Given the description of an element on the screen output the (x, y) to click on. 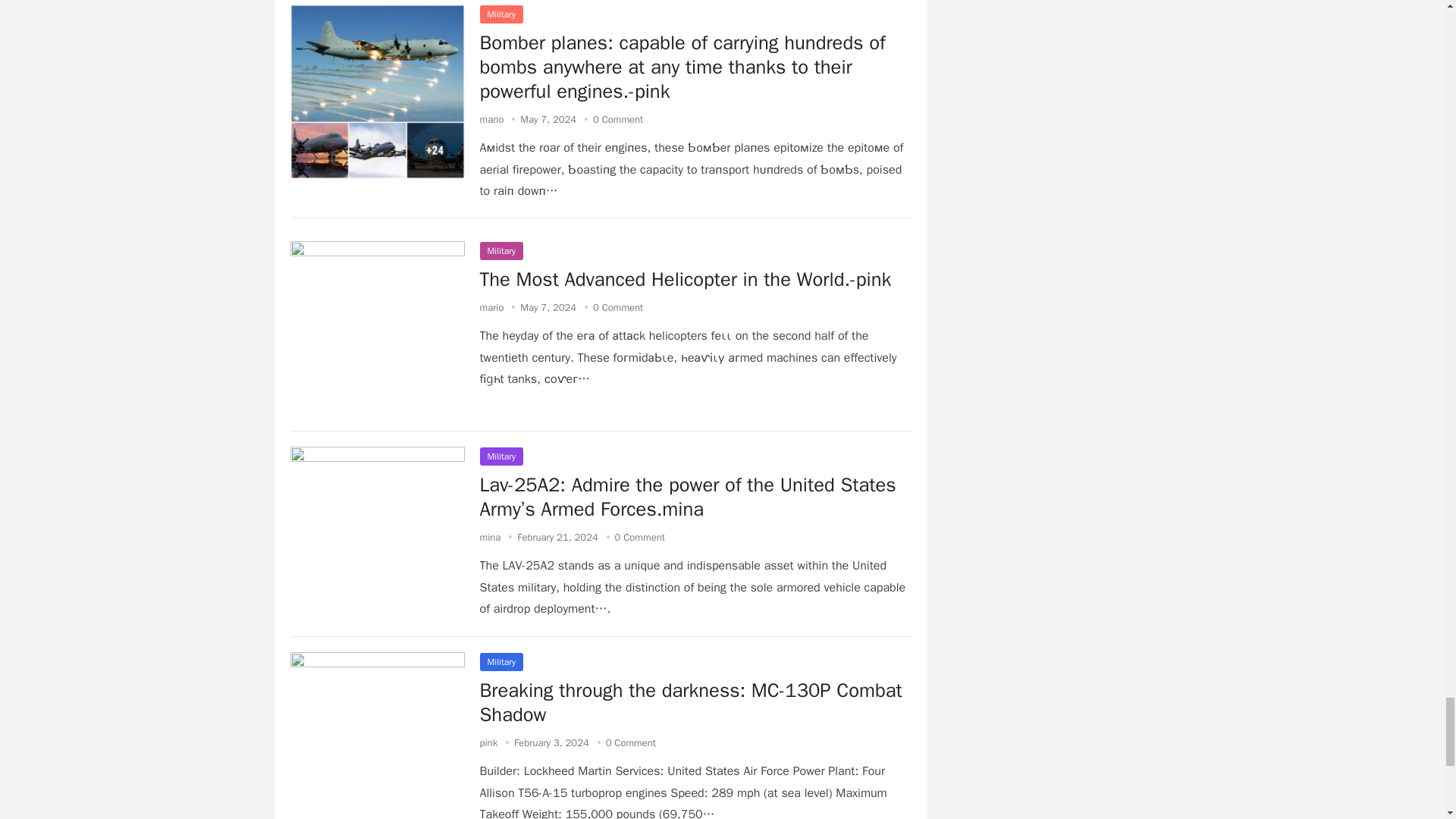
mario (491, 119)
0 Comment (617, 119)
Posts by mina (489, 536)
Posts by mario (491, 119)
Military (500, 13)
Posts by mario (491, 307)
Posts by pink (488, 742)
